Given the description of an element on the screen output the (x, y) to click on. 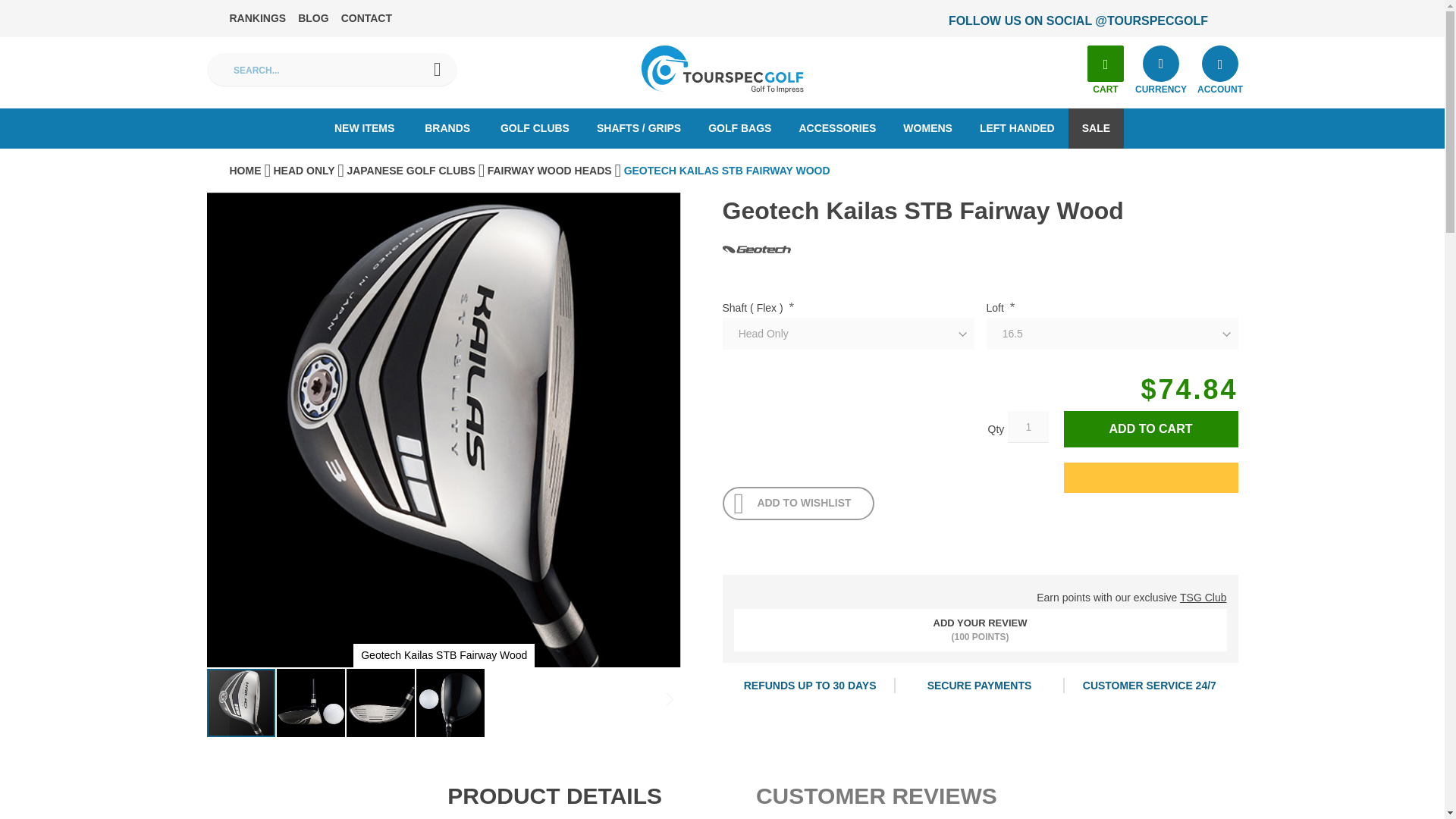
NEW ITEMS (363, 128)
RANKINGS (256, 18)
CONTACT (365, 18)
BLOG (313, 18)
BRANDS (446, 128)
Tourspecgolf - Golf to Impress (722, 69)
Search (433, 69)
1 (1027, 427)
WE SHIP WORLDWIDE! (1037, 21)
My Cart (1105, 63)
Search (433, 69)
